Given the description of an element on the screen output the (x, y) to click on. 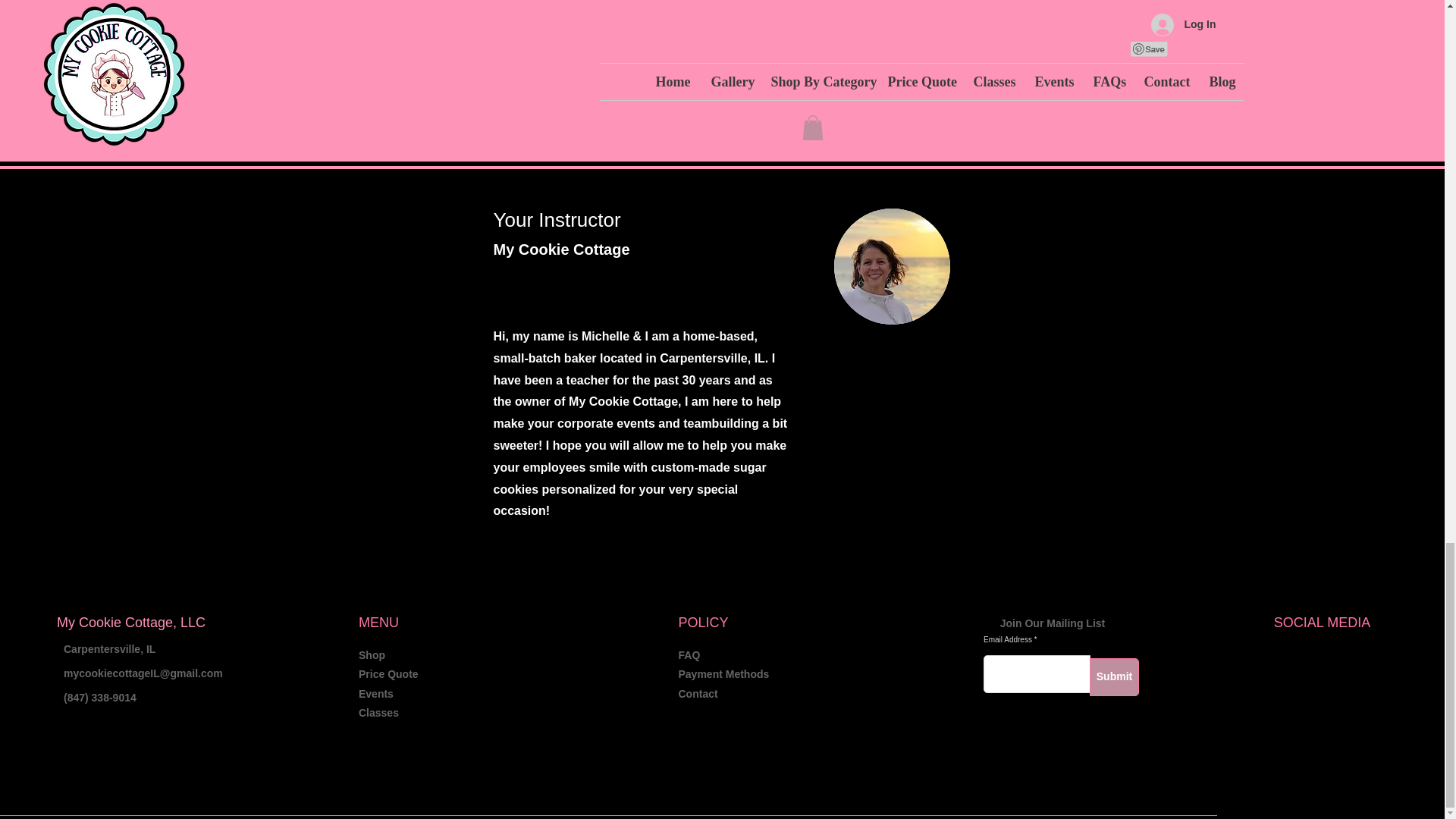
Classes (378, 712)
Submit (1113, 677)
Contact (697, 693)
FAQ (689, 654)
Price Quote (388, 674)
Events (375, 693)
